Given the description of an element on the screen output the (x, y) to click on. 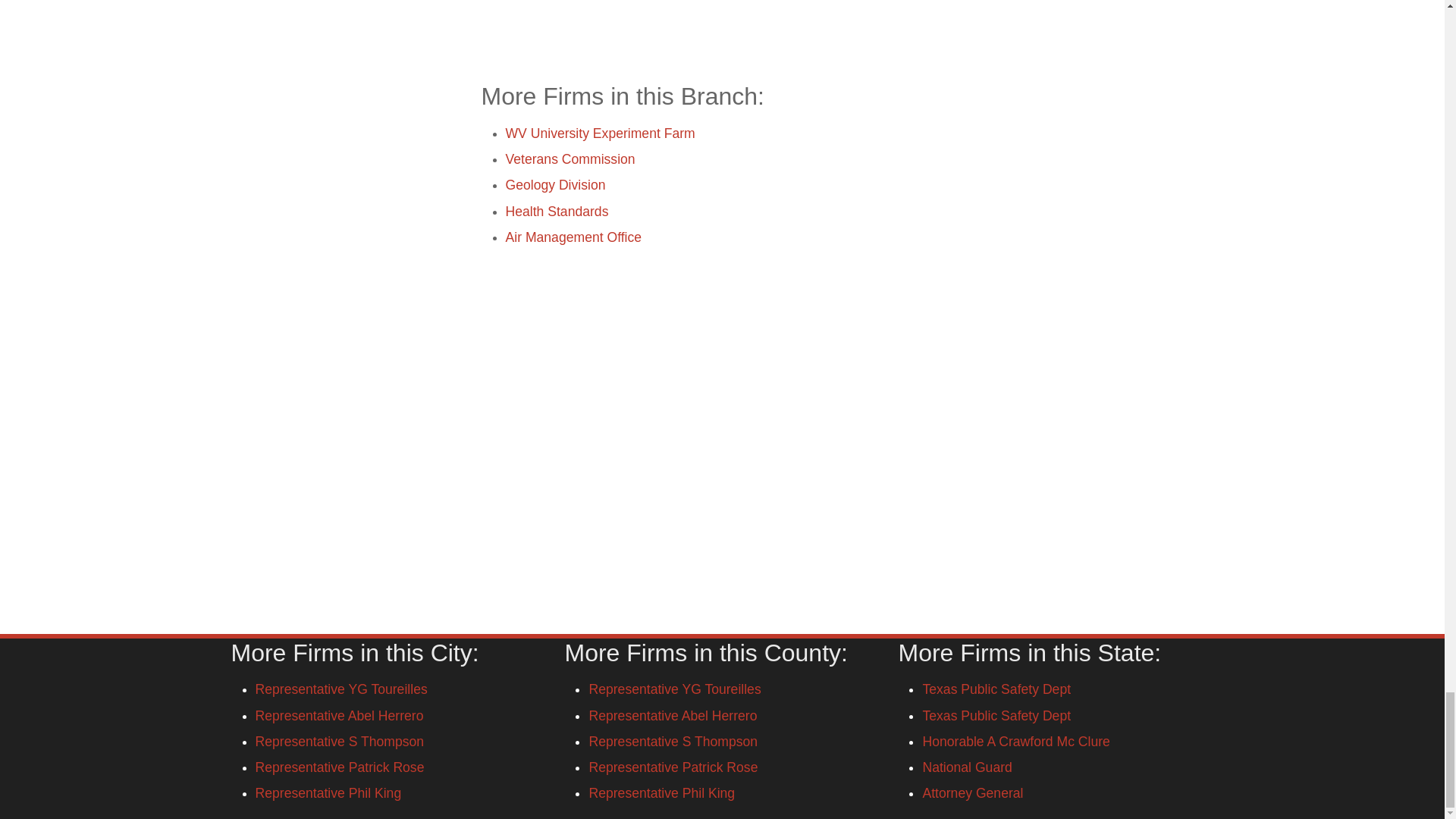
WV University Experiment Farm (599, 133)
Health Standards (556, 211)
Air Management Office (573, 237)
Geology Division (555, 184)
Veterans Commission (569, 159)
